Given the description of an element on the screen output the (x, y) to click on. 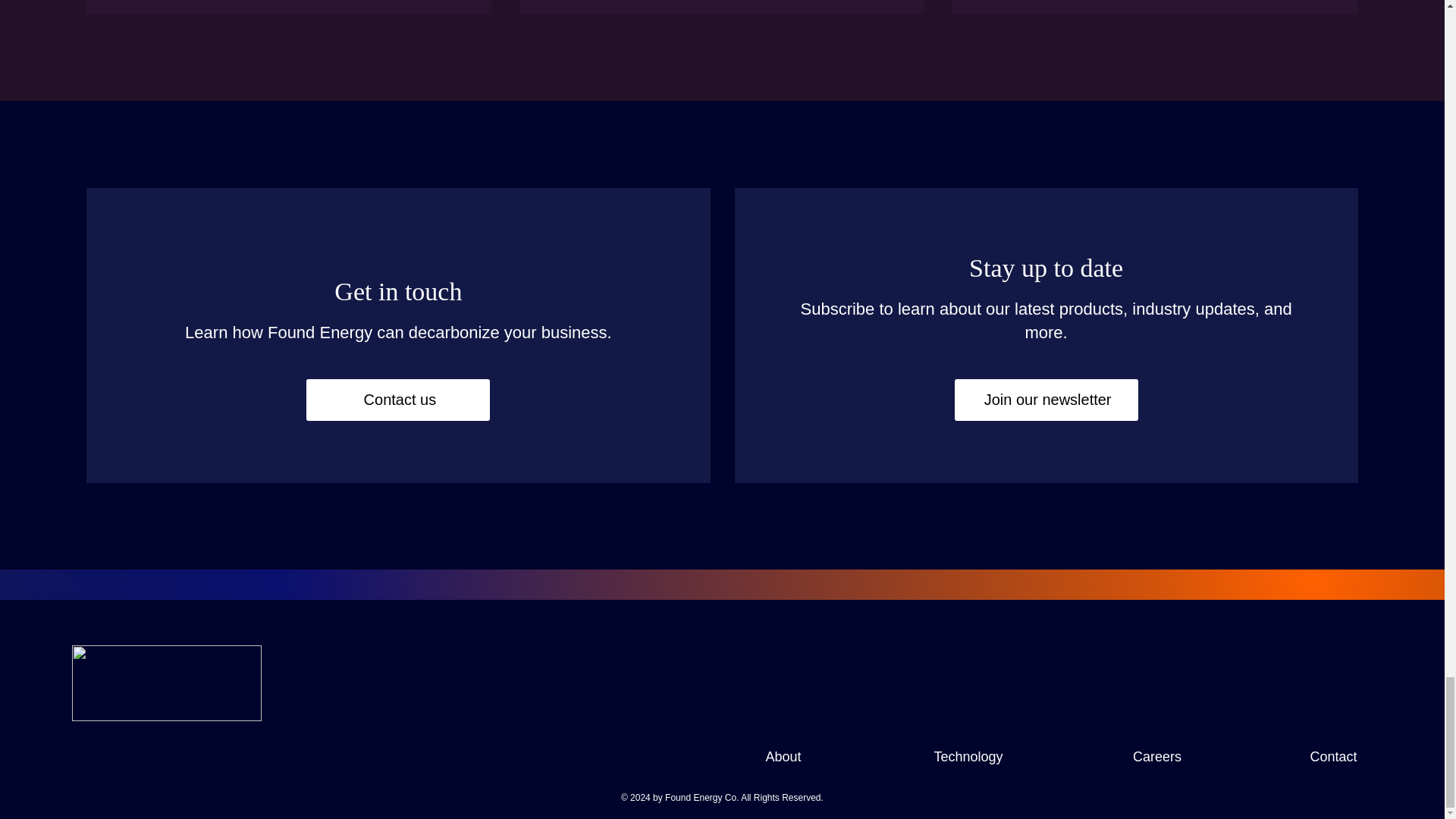
Join our newsletter (1046, 399)
Contact (1332, 756)
About (783, 756)
Contact us (397, 399)
Careers (1156, 756)
